Given the description of an element on the screen output the (x, y) to click on. 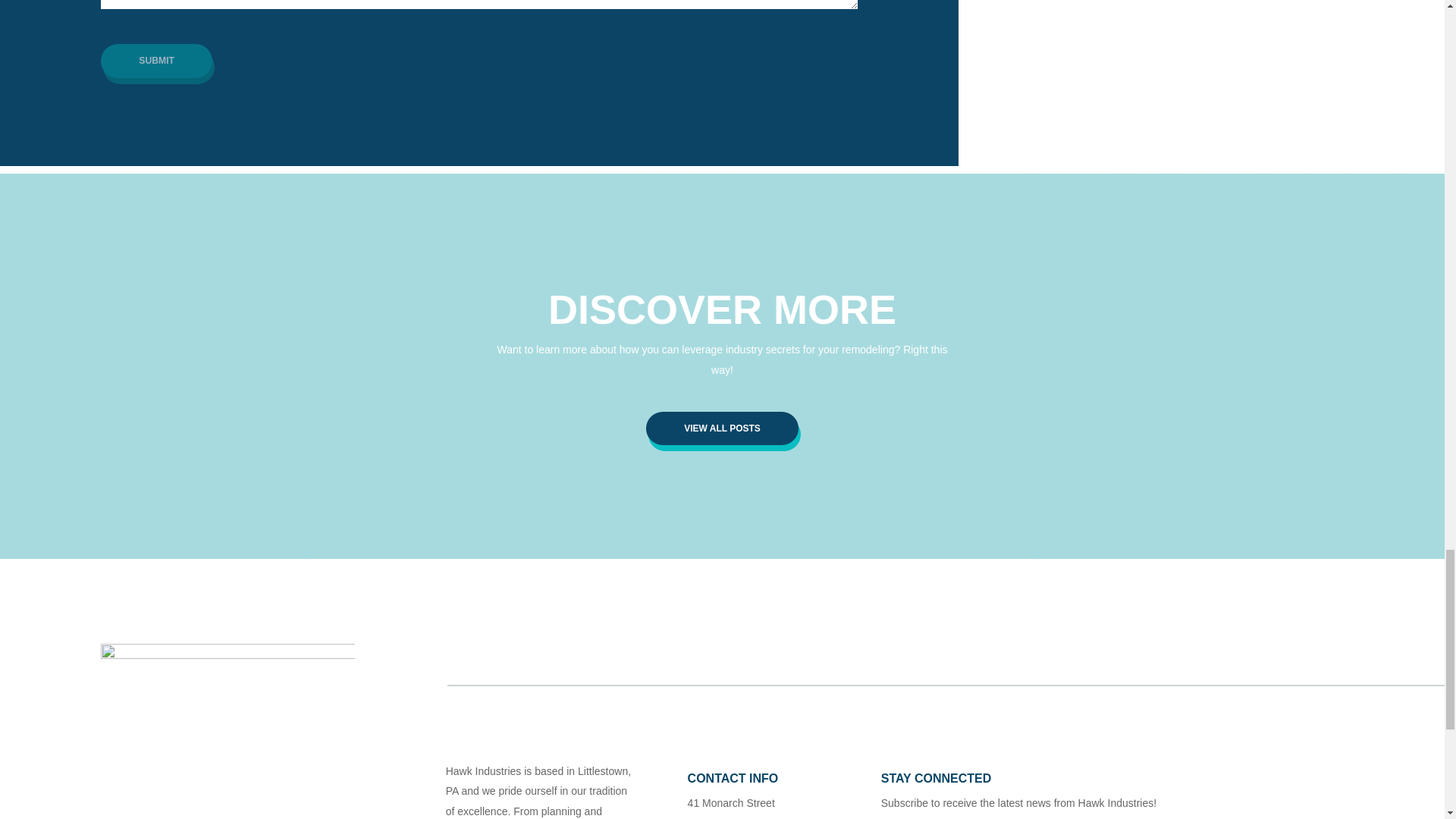
Submit (156, 60)
Submit (156, 60)
VIEW ALL POSTS (721, 428)
HawkIndustries-MainLogo-Horizontal-Rendered-2048x768 (227, 692)
